Given the description of an element on the screen output the (x, y) to click on. 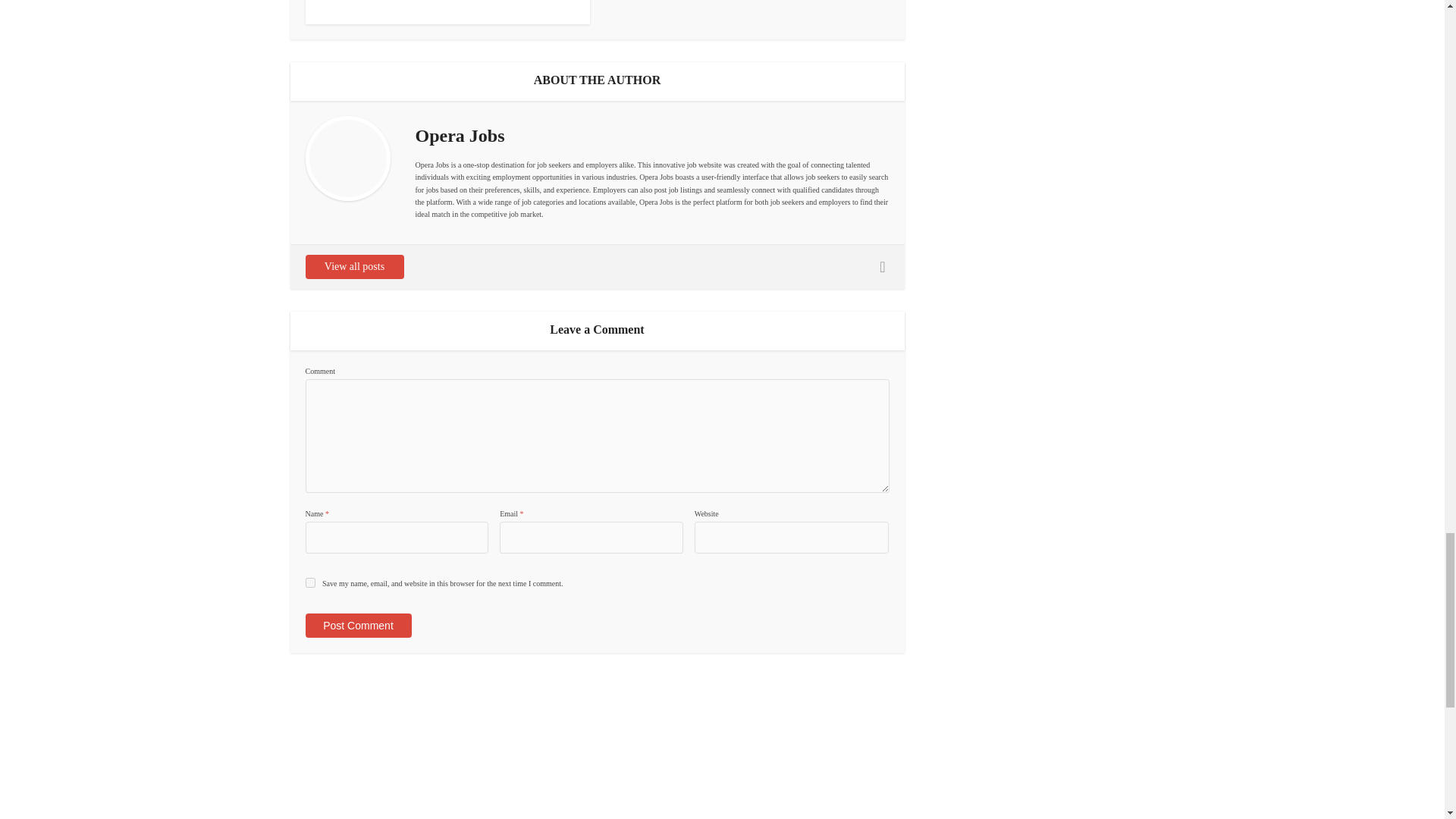
View all posts (353, 266)
Post Comment (357, 625)
yes (309, 583)
